Given the description of an element on the screen output the (x, y) to click on. 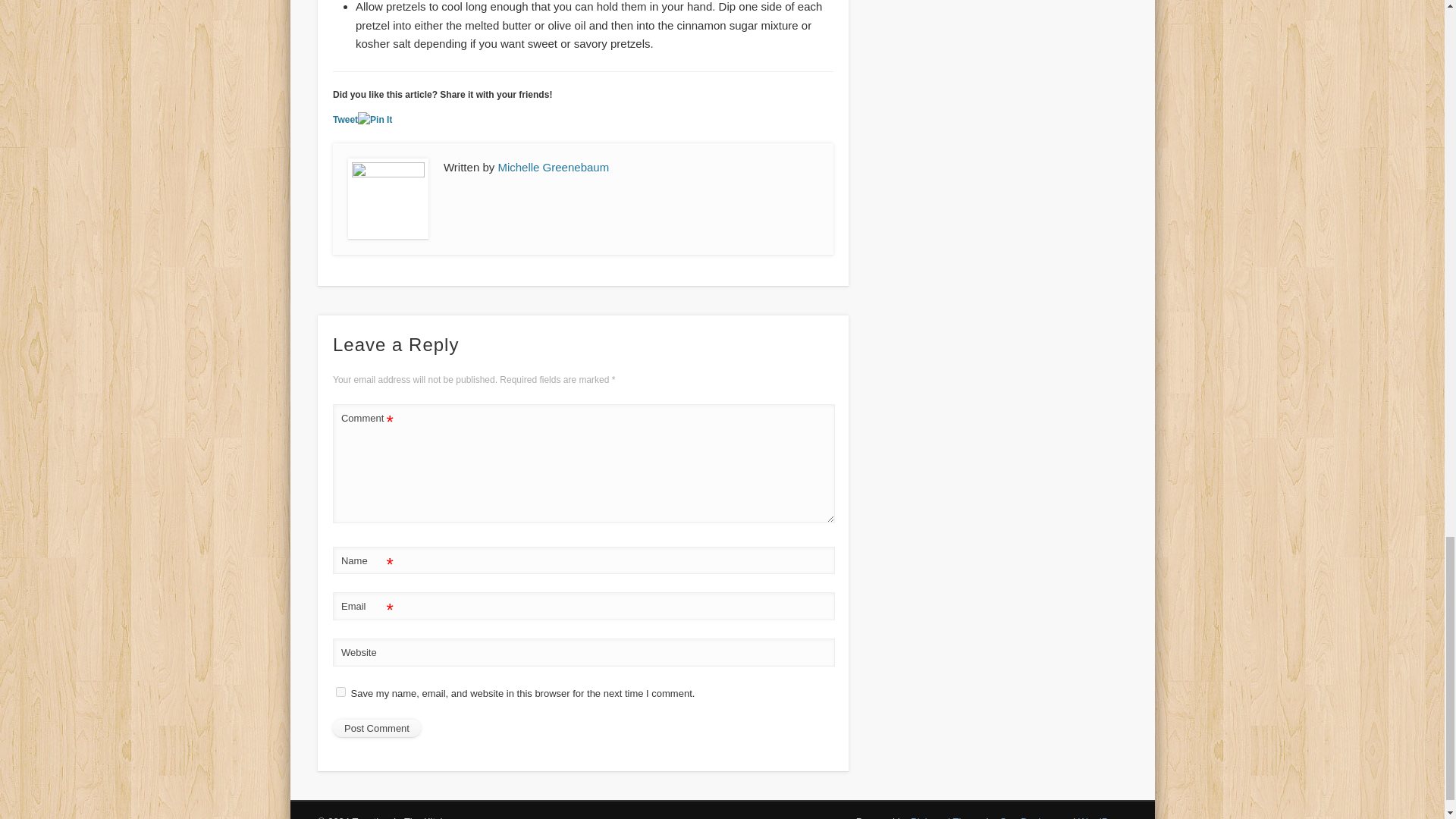
One Designs (1027, 817)
Pinboard Theme (947, 817)
yes (341, 691)
Pinboard Theme (947, 817)
Michelle Greenebaum (552, 166)
One Designs (1027, 817)
Pin It (374, 119)
Post Comment (376, 728)
WordPress (1102, 817)
Posts by Michelle Greenebaum (552, 166)
